Given the description of an element on the screen output the (x, y) to click on. 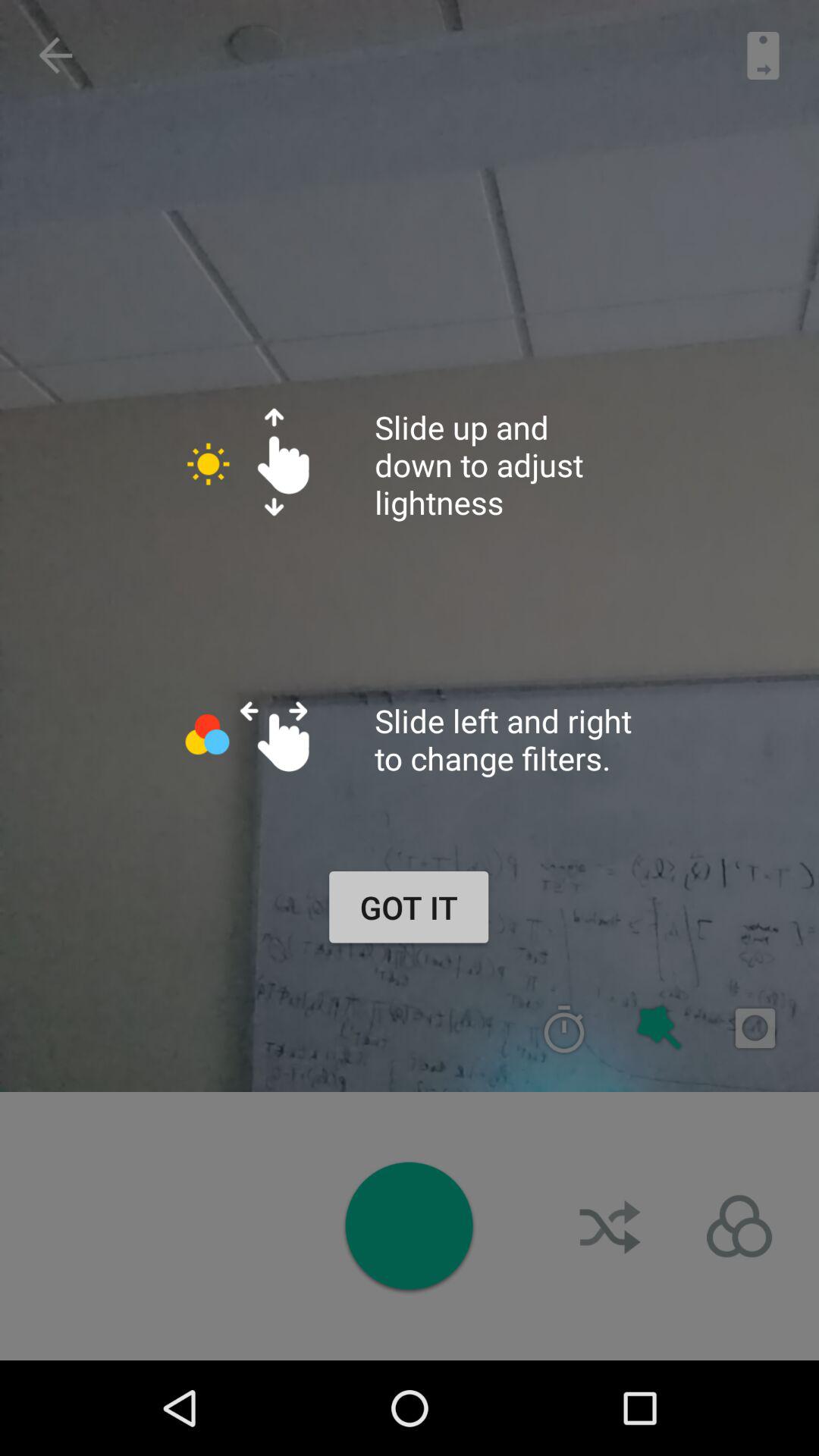
shuffle option (611, 1226)
